Given the description of an element on the screen output the (x, y) to click on. 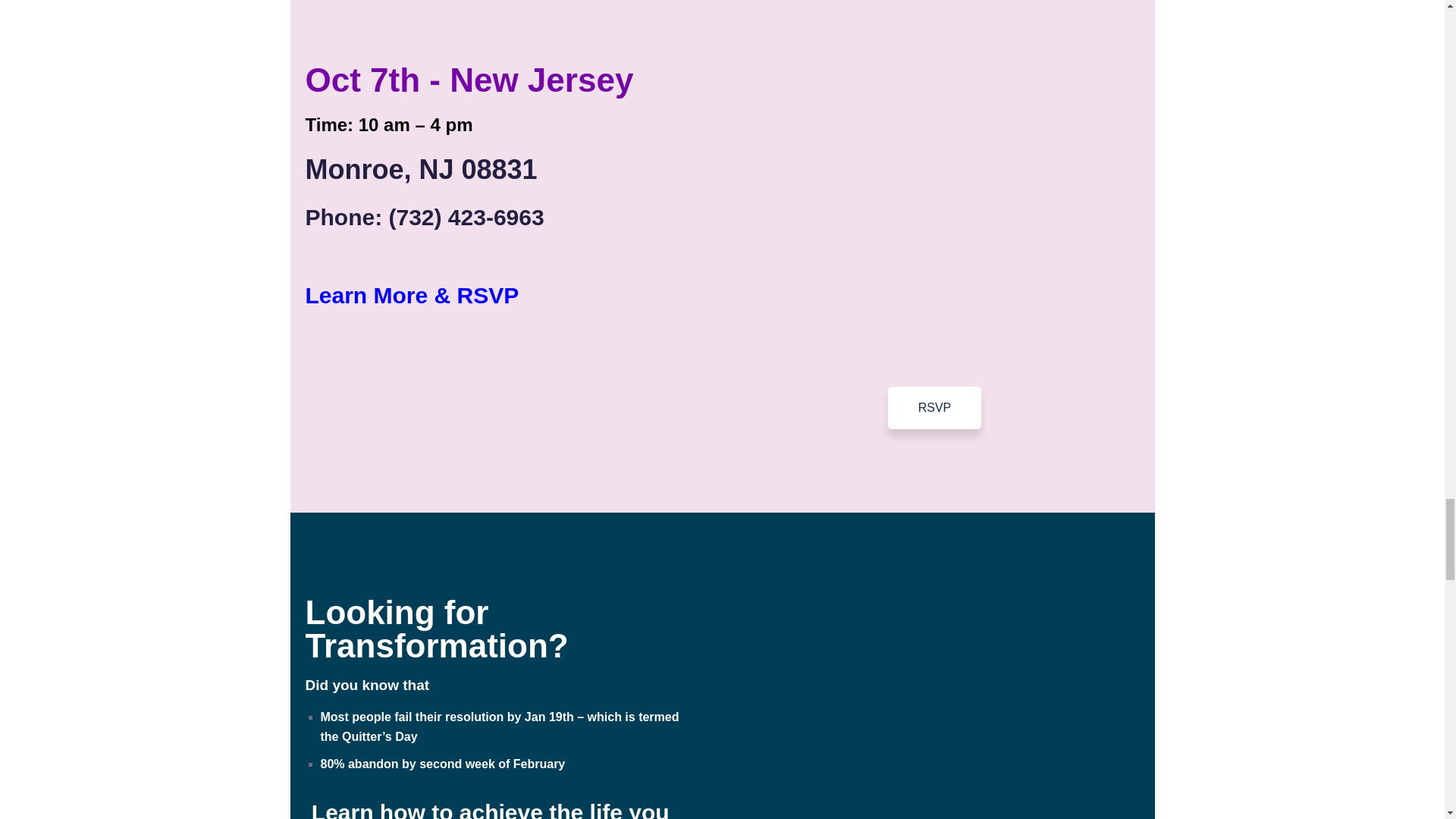
Oct 7th - New Jersey (468, 79)
RSVP (934, 407)
